Given the description of an element on the screen output the (x, y) to click on. 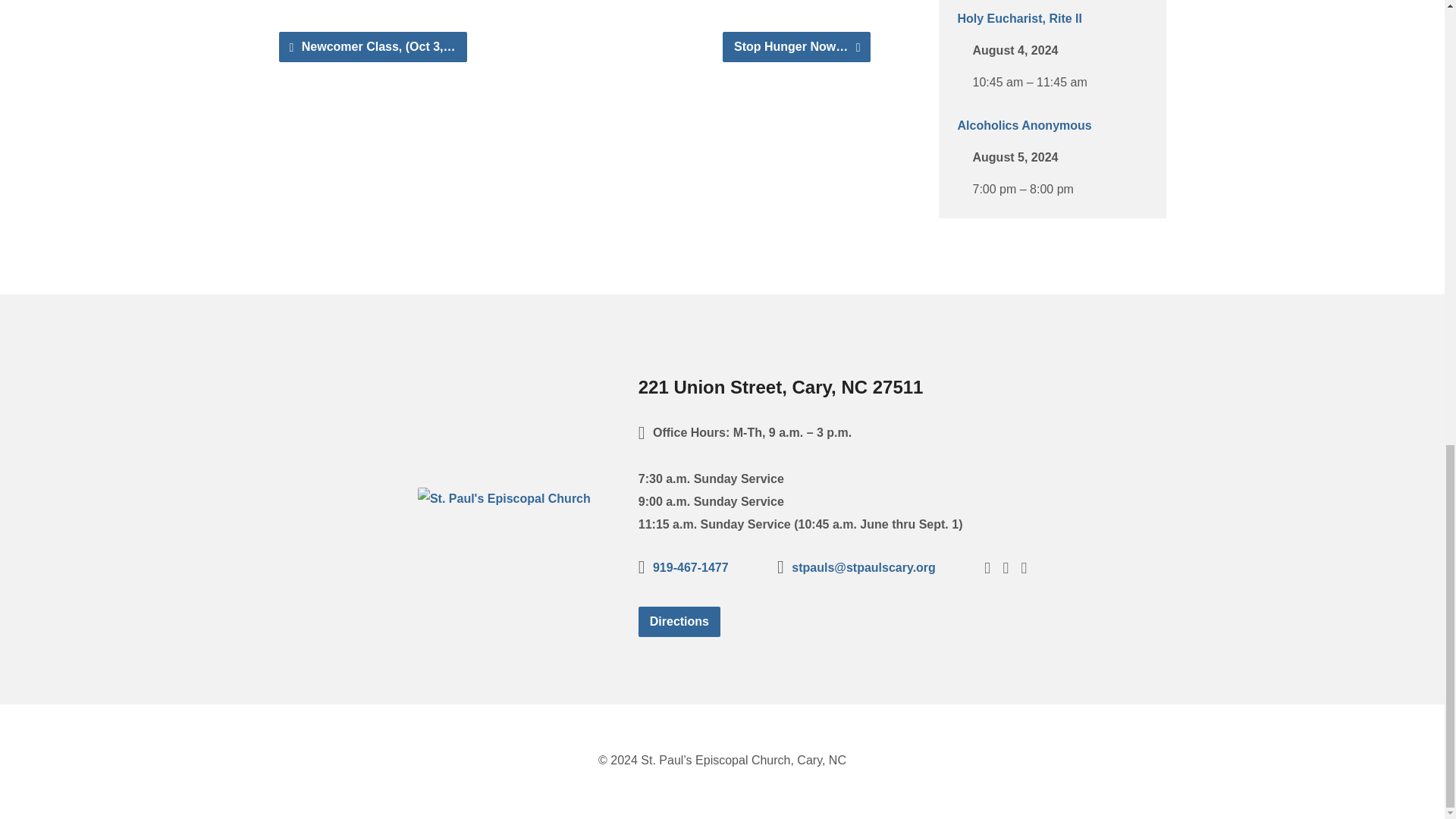
Alcoholics Anonymous (1023, 124)
Holy Eucharist, Rite II (1018, 18)
